Given the description of an element on the screen output the (x, y) to click on. 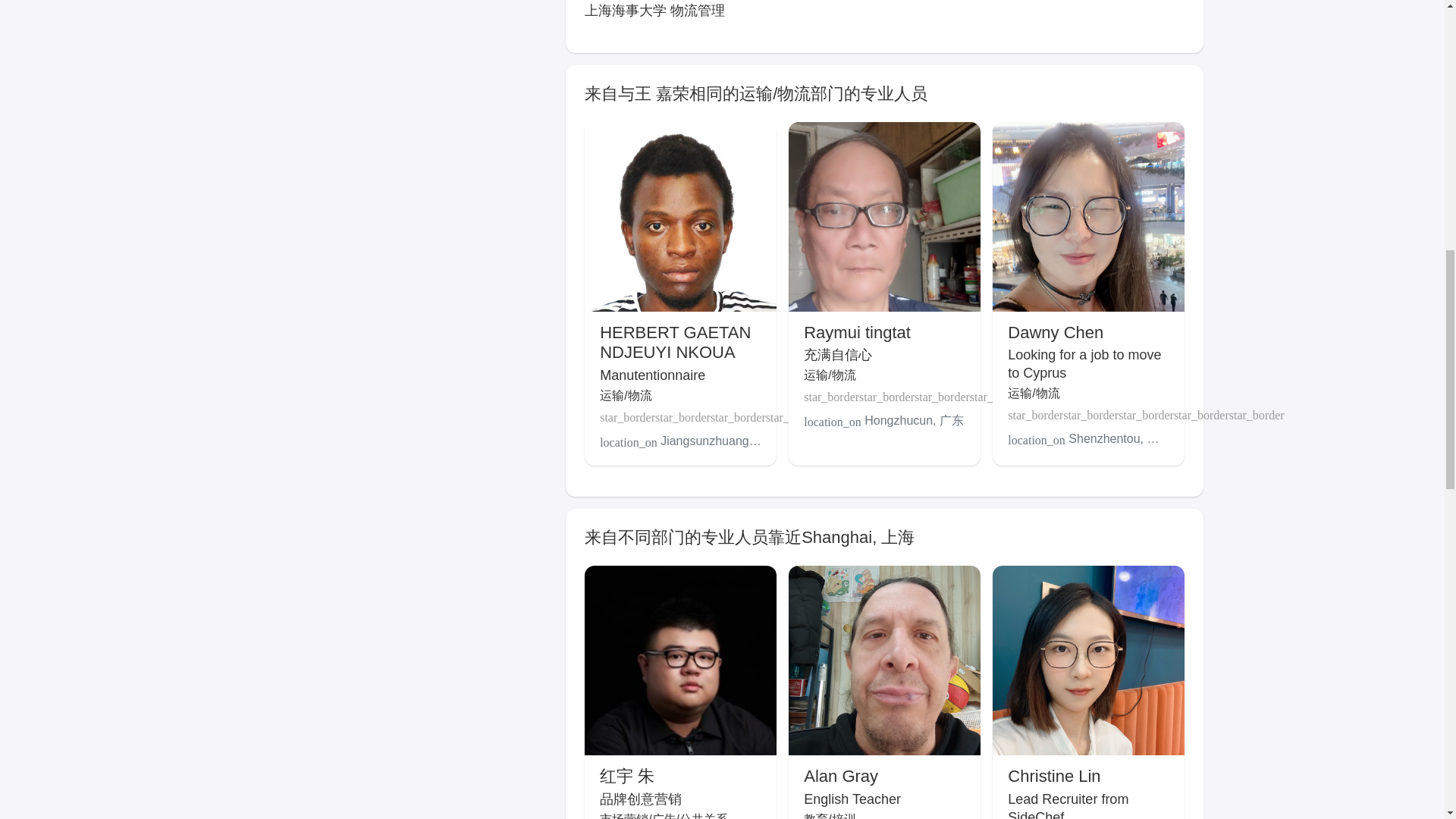
Dawny Chen (1055, 332)
Christine Lin (1053, 775)
Dawny Chen (1055, 332)
HERBERT GAETAN NDJEUYI NKOUA (675, 341)
Raymui tingtat (857, 332)
Alan Gray (840, 775)
Alan Gray (840, 775)
Raymui tingtat (857, 332)
Christine Lin (1053, 775)
HERBERT GAETAN NDJEUYI NKOUA (675, 341)
